Given the description of an element on the screen output the (x, y) to click on. 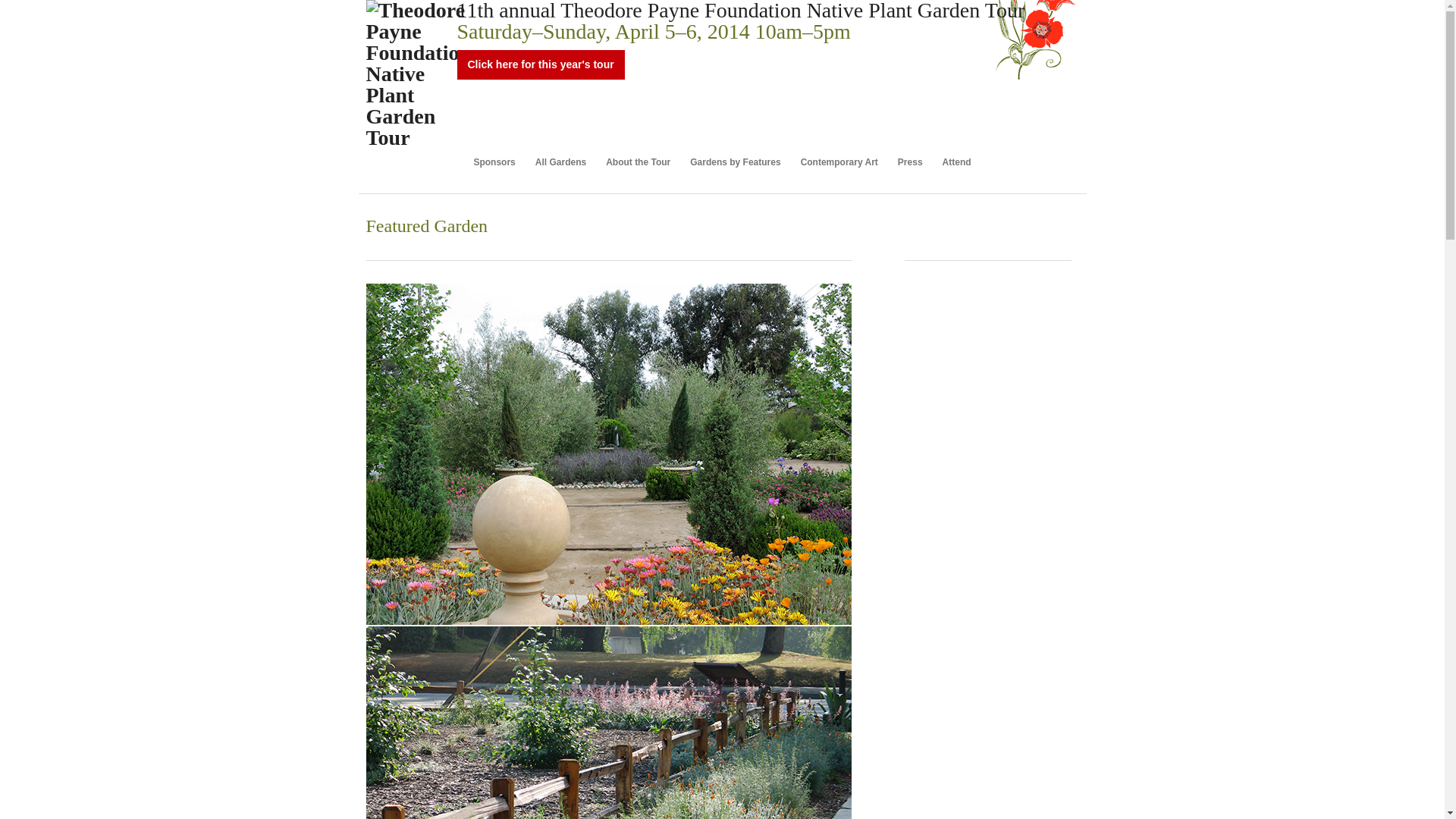
All Gardens (560, 157)
Garden Tour Press (909, 170)
Click here for this year's tour (540, 50)
About the Tour (637, 157)
About the Tour (637, 170)
Attend (956, 160)
Gardens by Features (735, 158)
Contemporary Art (839, 159)
Garden 30 in Pasadena (607, 722)
Sponsors (494, 156)
